Given the description of an element on the screen output the (x, y) to click on. 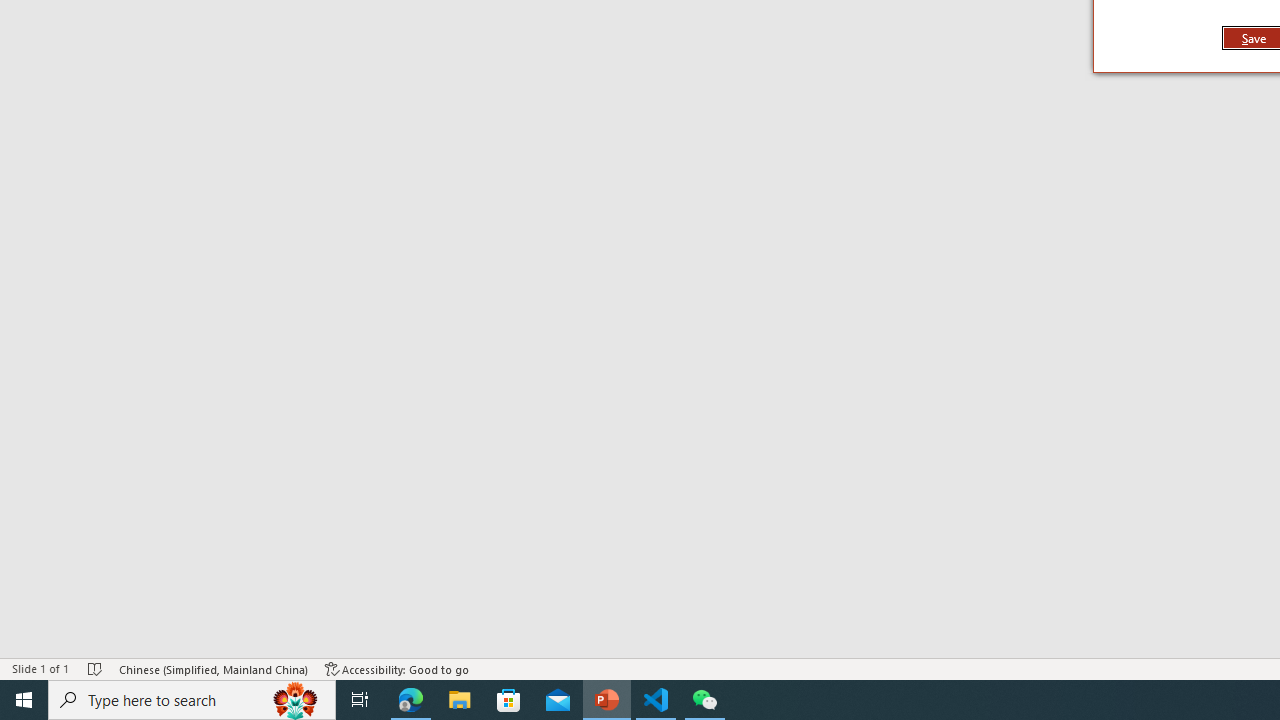
Microsoft Edge - 1 running window (411, 699)
Accessibility Checker Accessibility: Good to go (397, 668)
WeChat - 1 running window (704, 699)
